Given the description of an element on the screen output the (x, y) to click on. 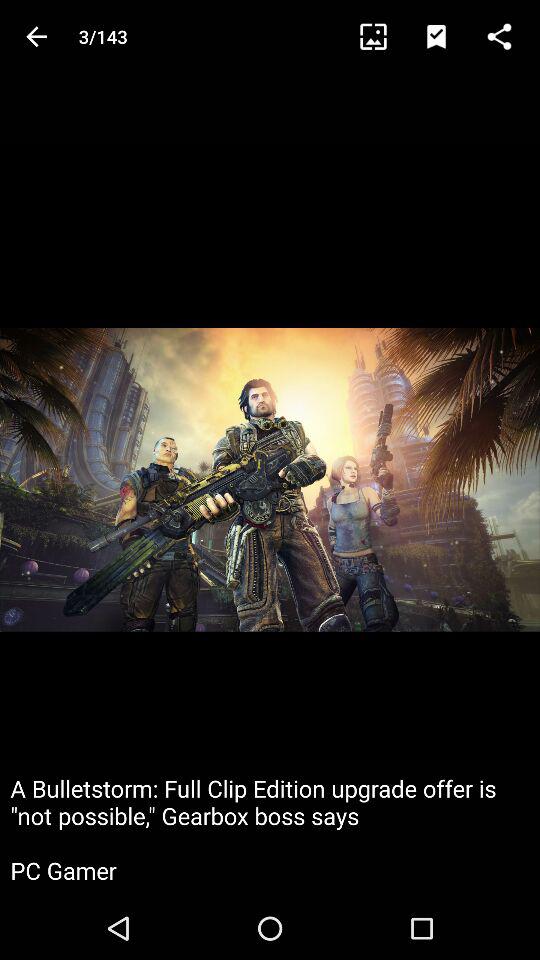
turn on icon at the center (270, 480)
